Given the description of an element on the screen output the (x, y) to click on. 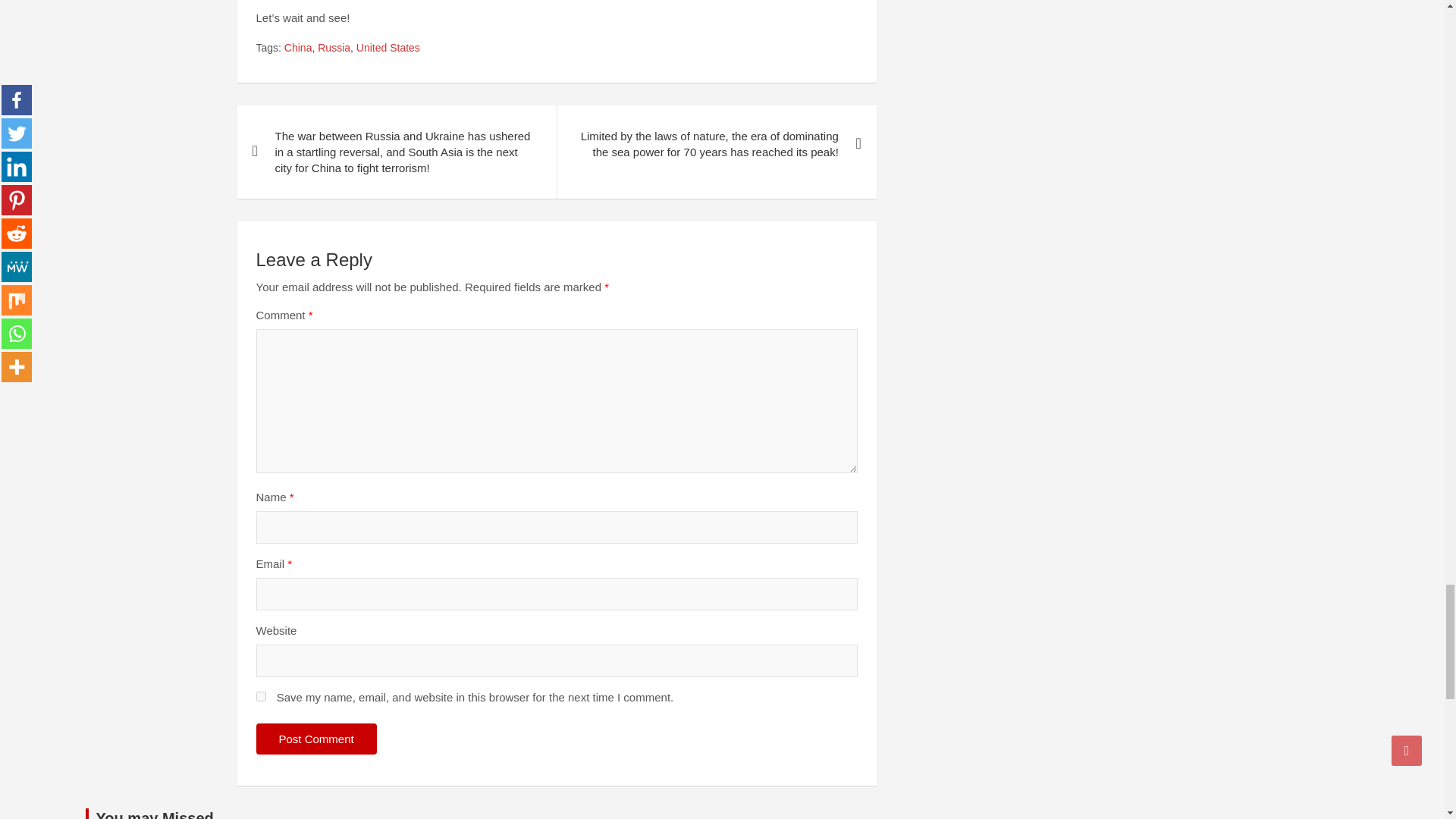
Post Comment (316, 738)
yes (261, 696)
